Given the description of an element on the screen output the (x, y) to click on. 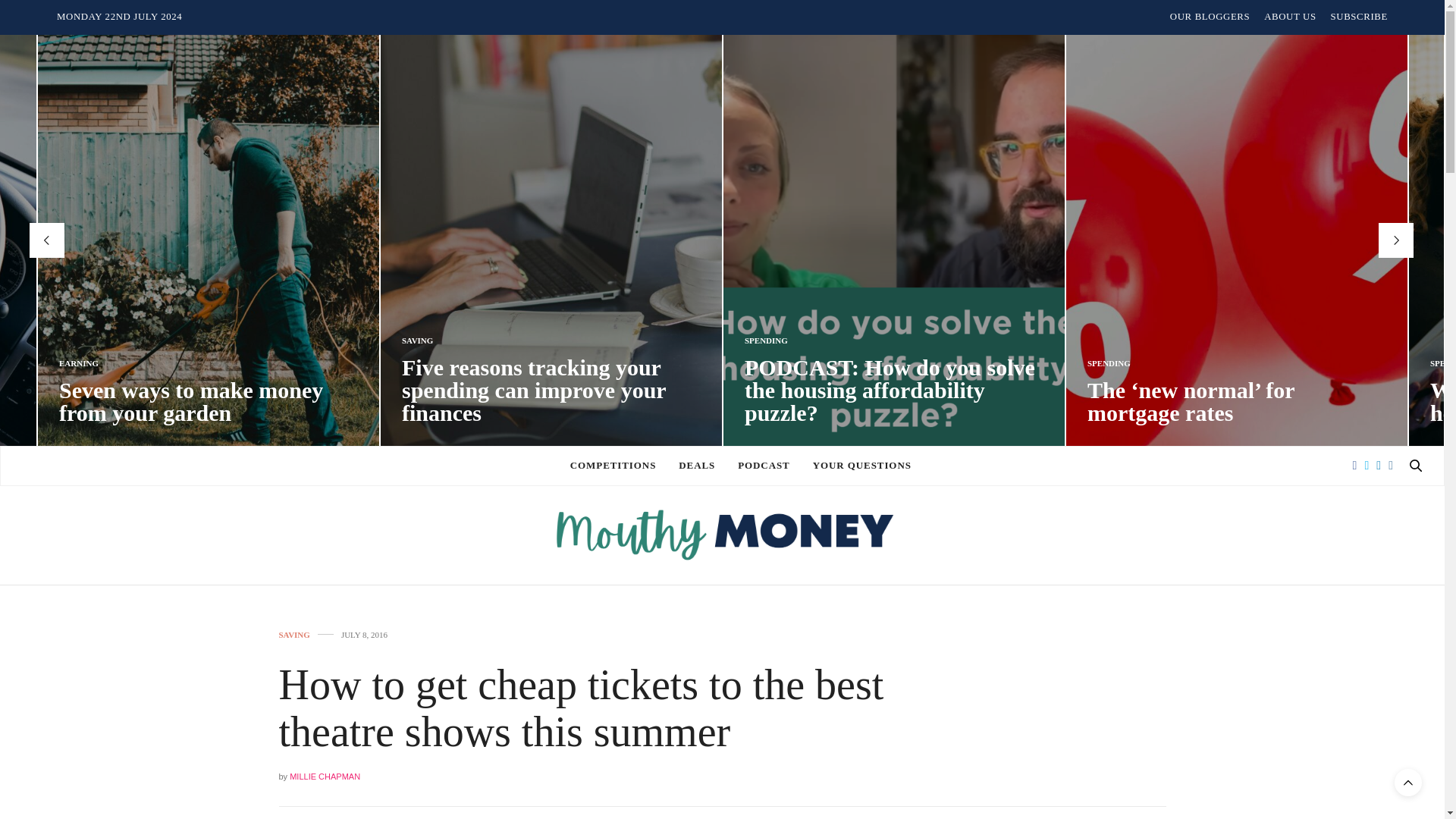
SAVING (416, 340)
ABOUT US (1289, 16)
OUR BLOGGERS (1209, 16)
SUBSCRIBE (1358, 16)
EARNING (79, 363)
Seven ways to make money from your garden (191, 401)
